Given the description of an element on the screen output the (x, y) to click on. 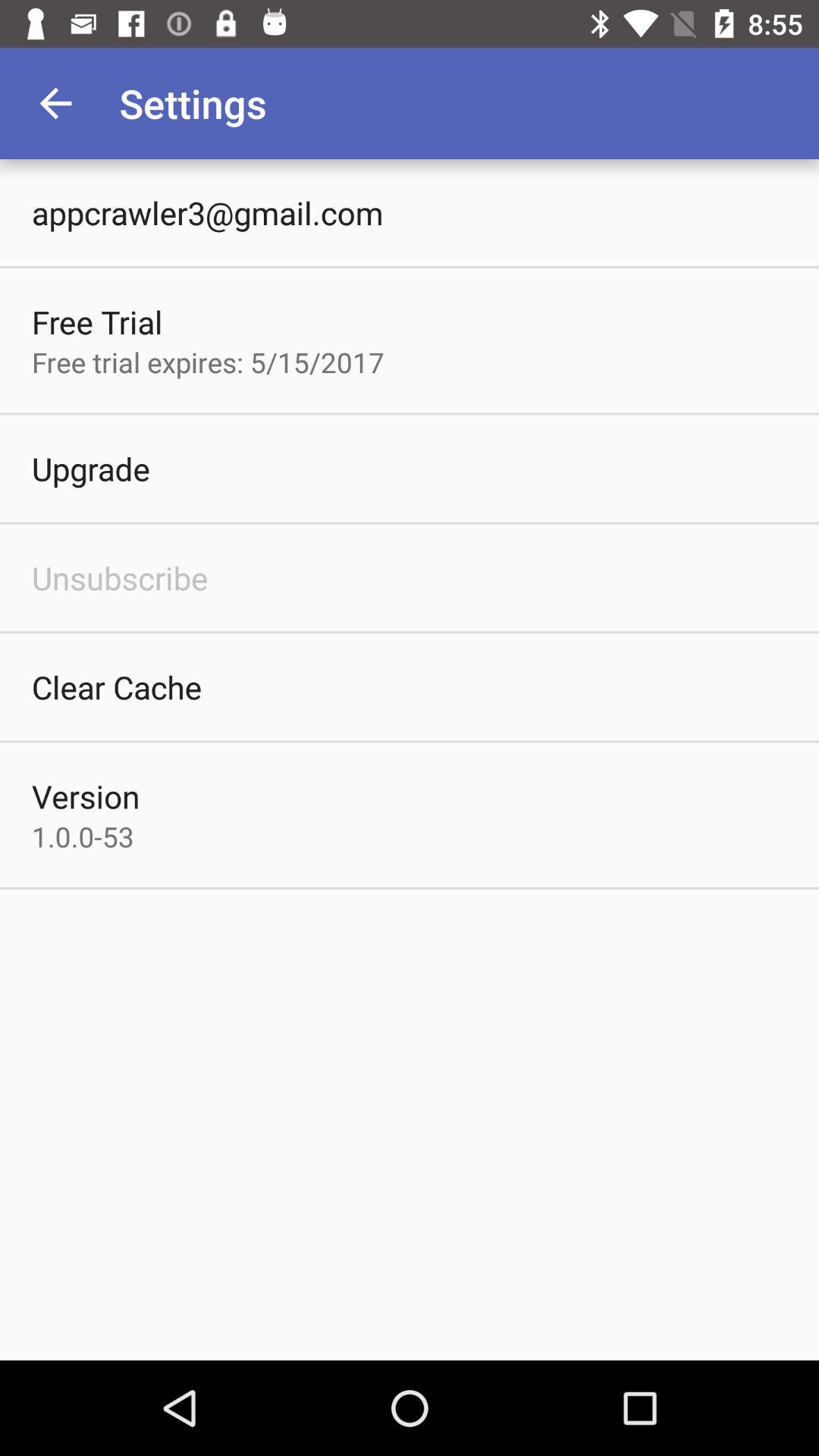
swipe to upgrade icon (90, 468)
